Given the description of an element on the screen output the (x, y) to click on. 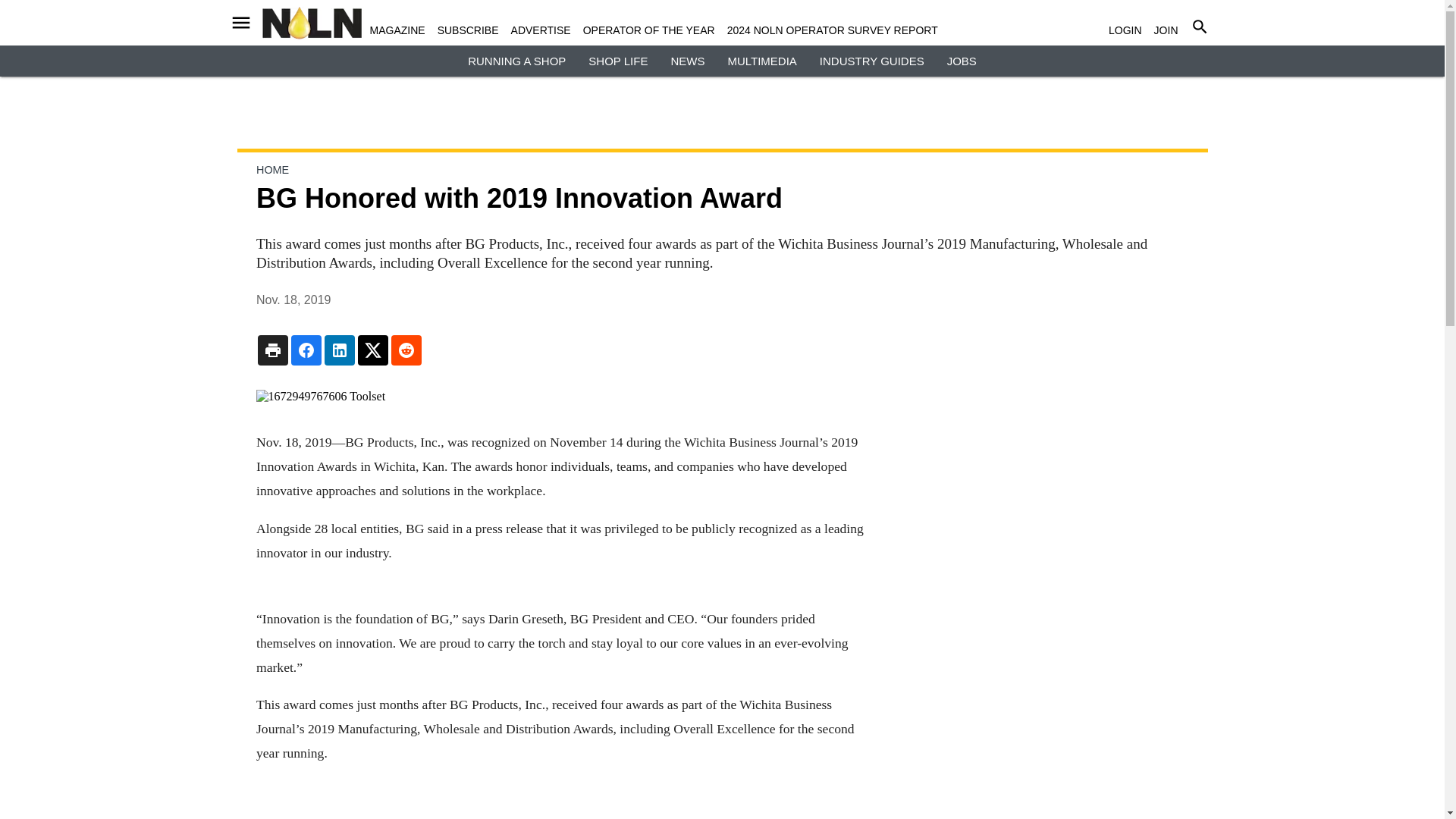
RUNNING A SHOP (516, 60)
SUBSCRIBE (468, 30)
INDUSTRY GUIDES (871, 60)
MULTIMEDIA (761, 60)
SHOP LIFE (617, 60)
JOIN (1165, 30)
NEWS (686, 60)
2024 NOLN OPERATOR SURVEY REPORT (831, 30)
1672949767606 Toolset (560, 396)
MAGAZINE (397, 30)
ADVERTISE (540, 30)
LOGIN (1124, 30)
OPERATOR OF THE YEAR (648, 30)
JOBS (961, 60)
